Given the description of an element on the screen output the (x, y) to click on. 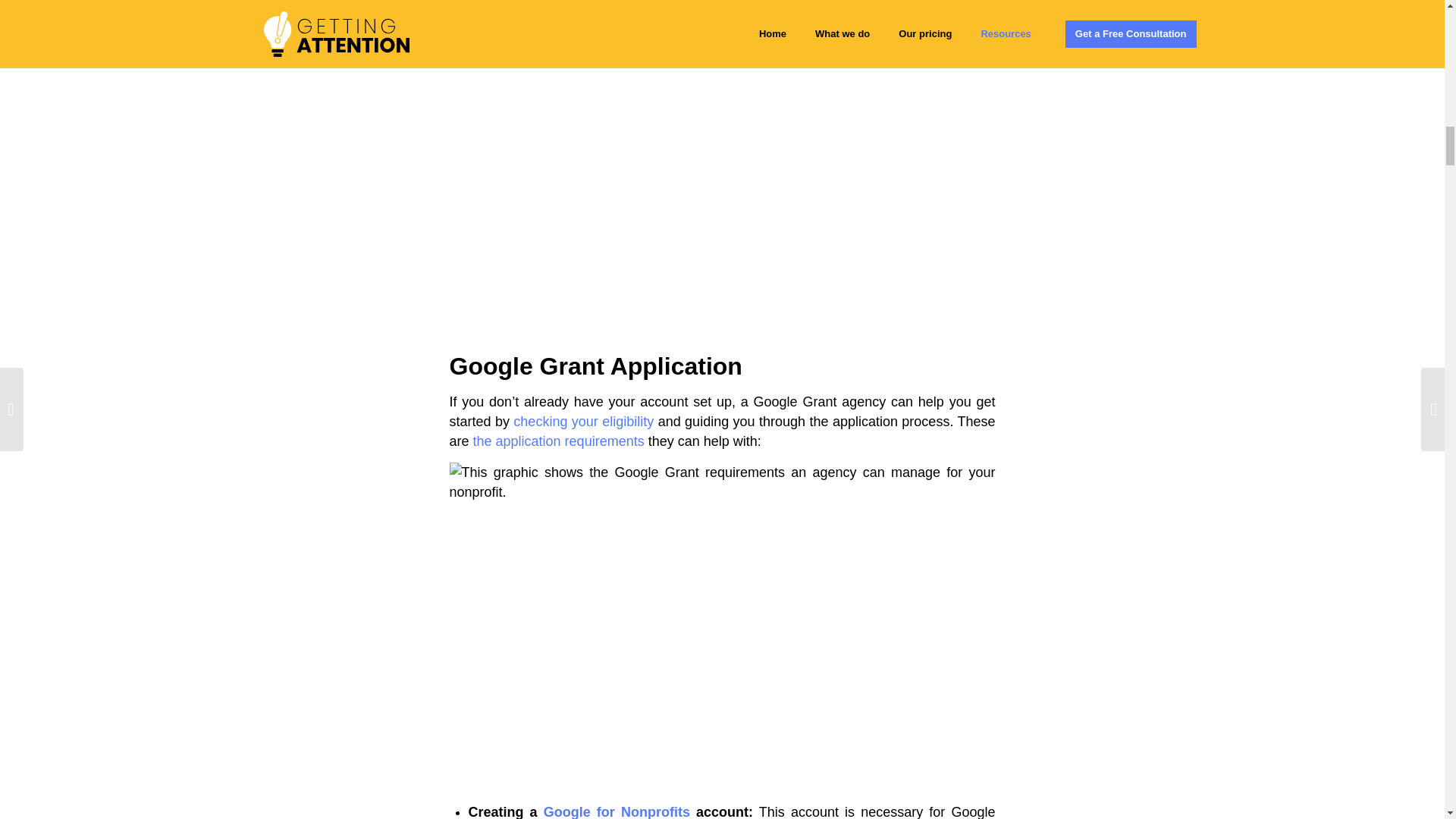
the application requirements (559, 441)
Google for Nonprofits (616, 811)
checking your eligibility (583, 421)
